Given the description of an element on the screen output the (x, y) to click on. 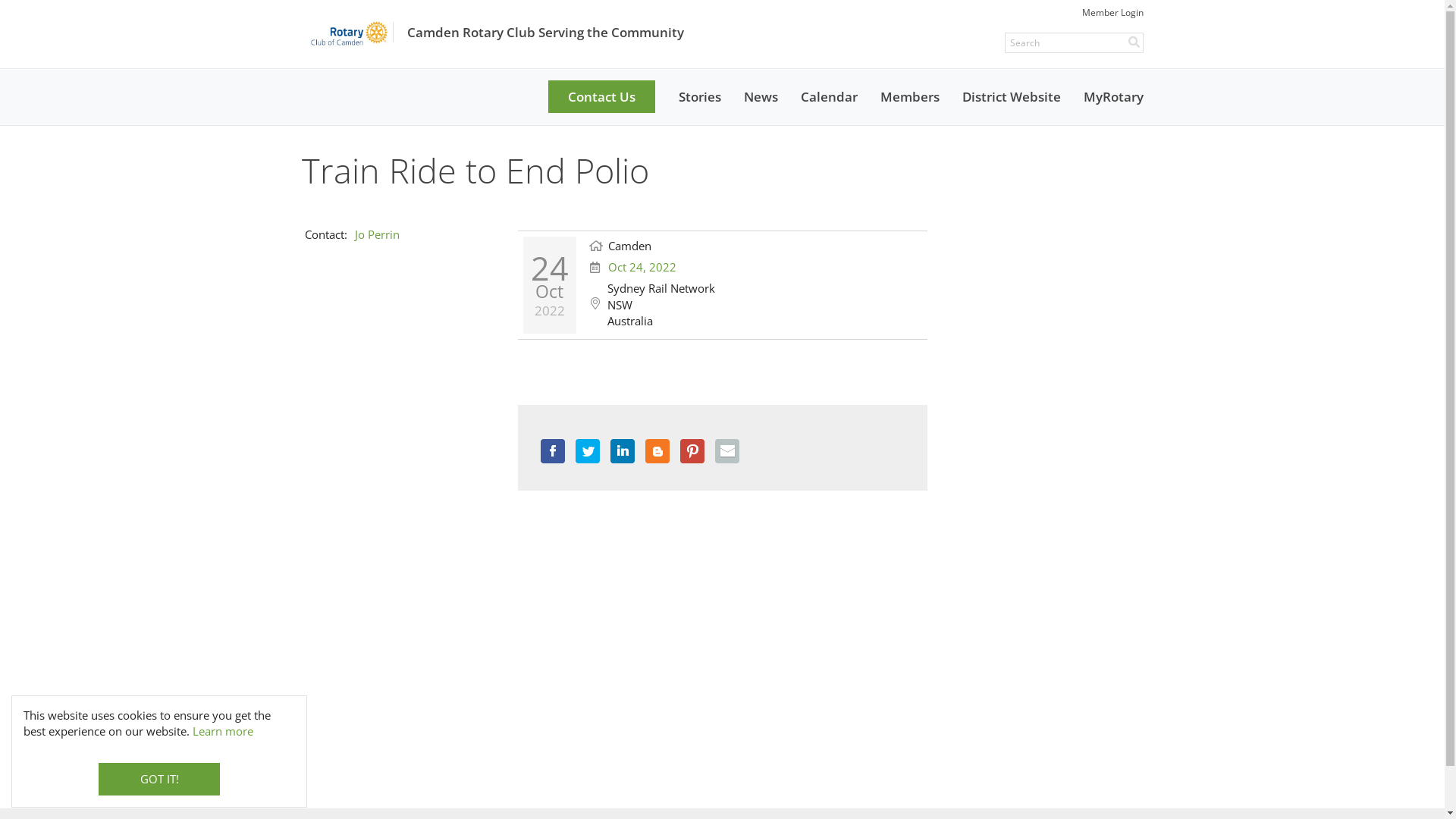
District Website Element type: text (1011, 96)
Contact Us Element type: text (600, 96)
News Element type: text (760, 96)
GOT IT! Element type: text (158, 778)
Members Element type: text (909, 96)
MyRotary Element type: text (1113, 96)
Learn more Element type: text (222, 730)
Oct 24, 2022 Element type: text (642, 266)
Member Login Element type: text (1111, 12)
Calendar Element type: text (828, 96)
Camden Rotary Club Serving the Community Element type: text (492, 31)
Stories Element type: text (699, 96)
Jo Perrin Element type: text (376, 233)
